Given the description of an element on the screen output the (x, y) to click on. 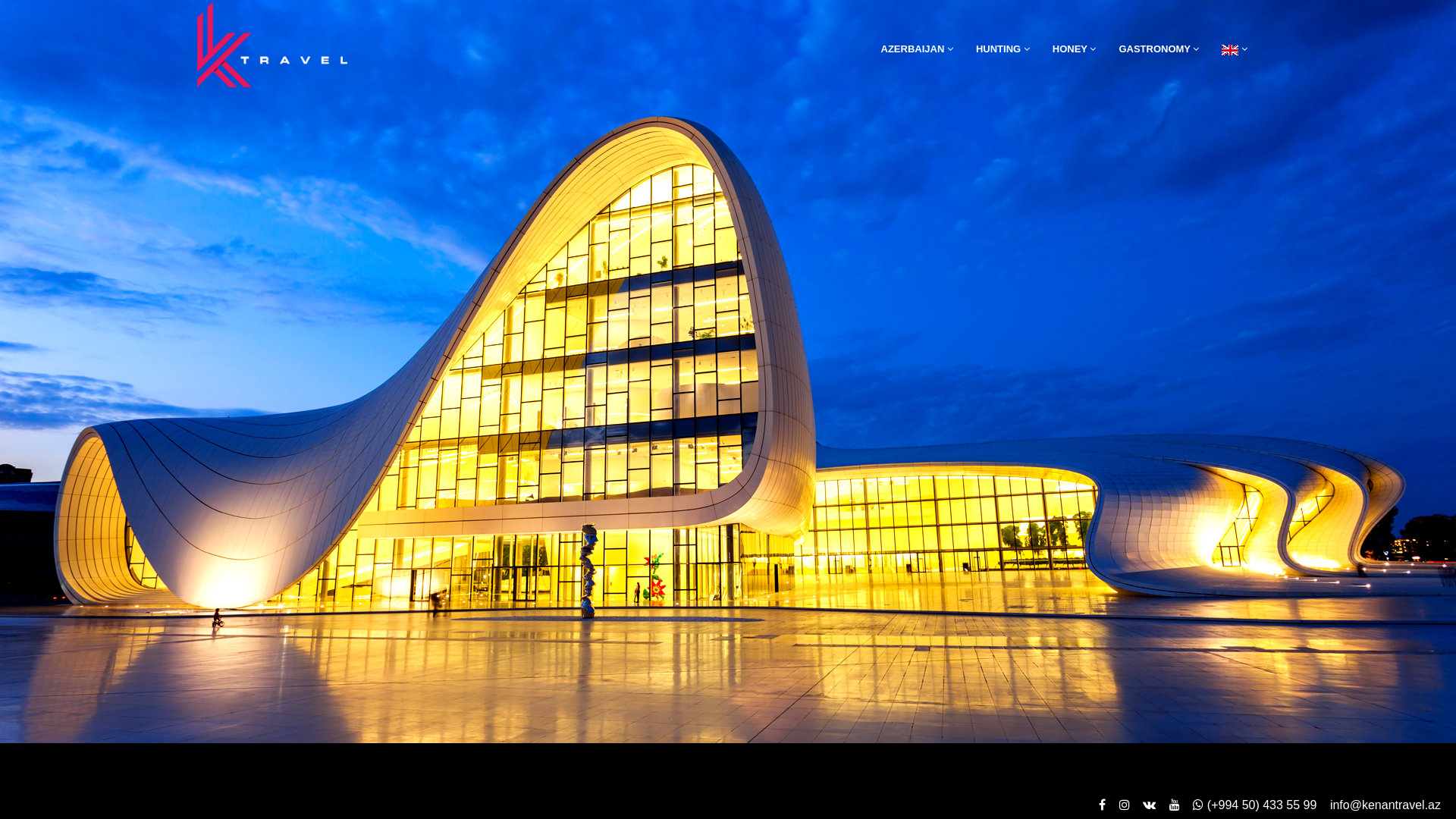
info@kenantravel.az Element type: text (1380, 805)
HUNTING Element type: text (1002, 49)
GASTRONOMY Element type: text (1158, 49)
(+994 50) 433 55 99 Element type: text (1249, 805)
AZERBAIJAN Element type: text (922, 49)
                       Element type: text (1405, 797)
HONEY Element type: text (1074, 49)
